Given the description of an element on the screen output the (x, y) to click on. 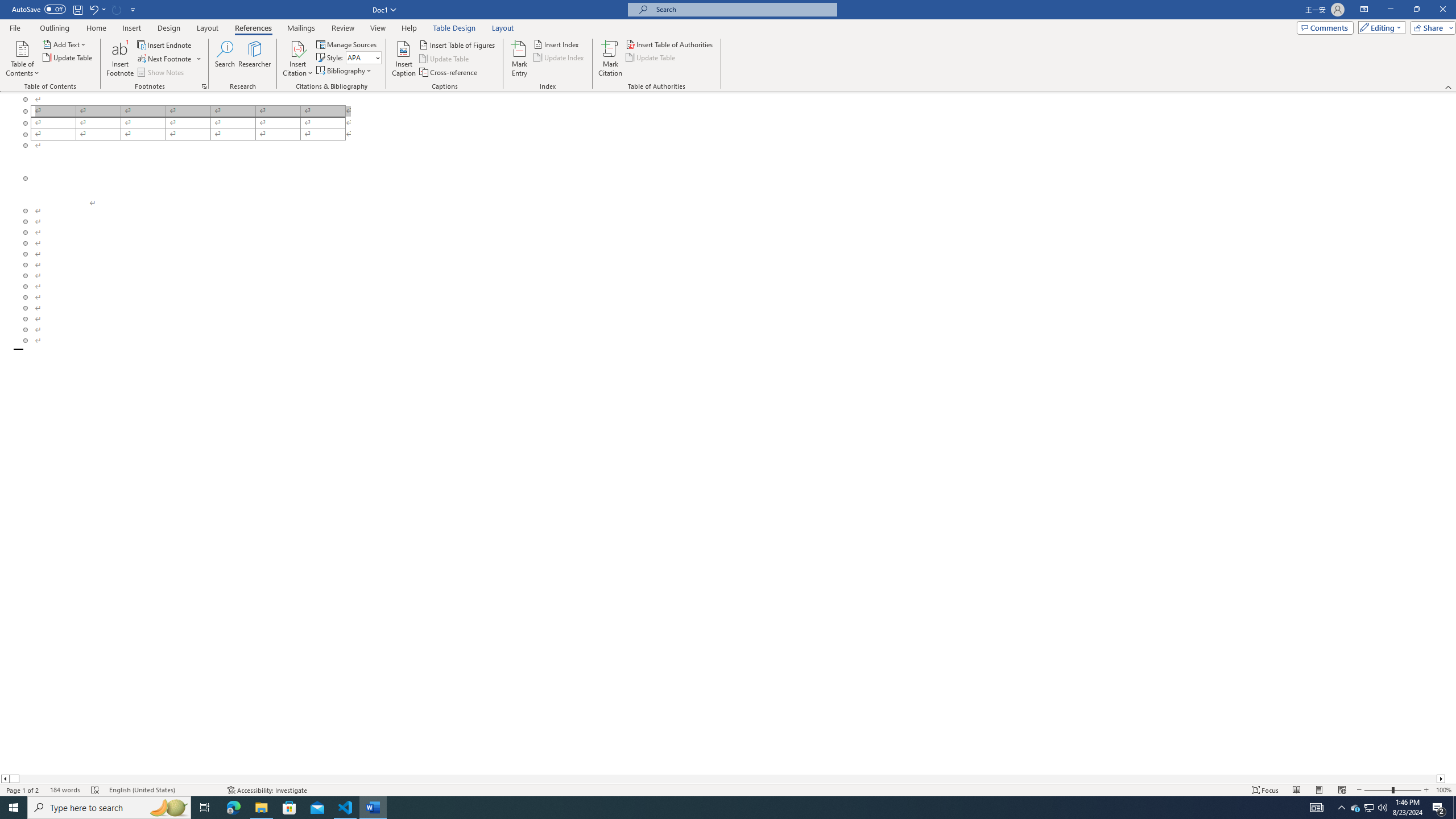
Undo Outline Move Up (92, 9)
Can't Repeat (117, 9)
Page right (727, 778)
Insert Citation (297, 58)
Mark Citation... (610, 58)
Column left (5, 778)
Manage Sources... (347, 44)
Page Number Page 1 of 2 (22, 790)
Zoom 100% (1443, 790)
